Given the description of an element on the screen output the (x, y) to click on. 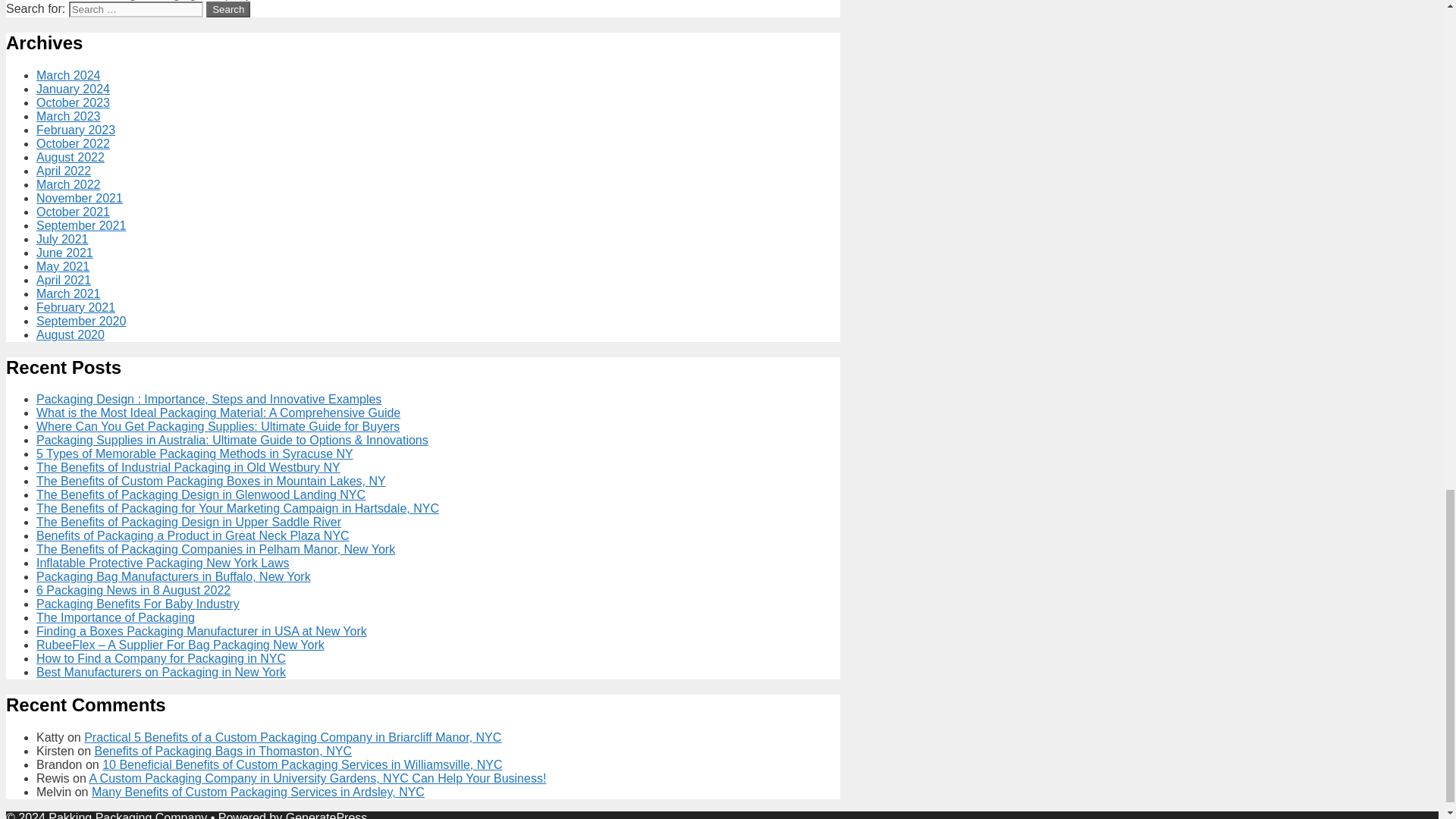
October 2023 (73, 102)
August 2022 (70, 156)
March 2022 (68, 184)
The Benefits of Packaging Design in Glenwood Landing NYC (200, 494)
October 2022 (73, 143)
March 2024 (68, 74)
March 2023 (68, 115)
The Benefits of Industrial Packaging in Old Westbury NY (188, 467)
The Benefits of Custom Packaging Boxes in Mountain Lakes, NY (210, 481)
Search (228, 9)
September 2020 (80, 320)
August 2020 (70, 334)
April 2022 (63, 170)
March 2021 (68, 293)
